Given the description of an element on the screen output the (x, y) to click on. 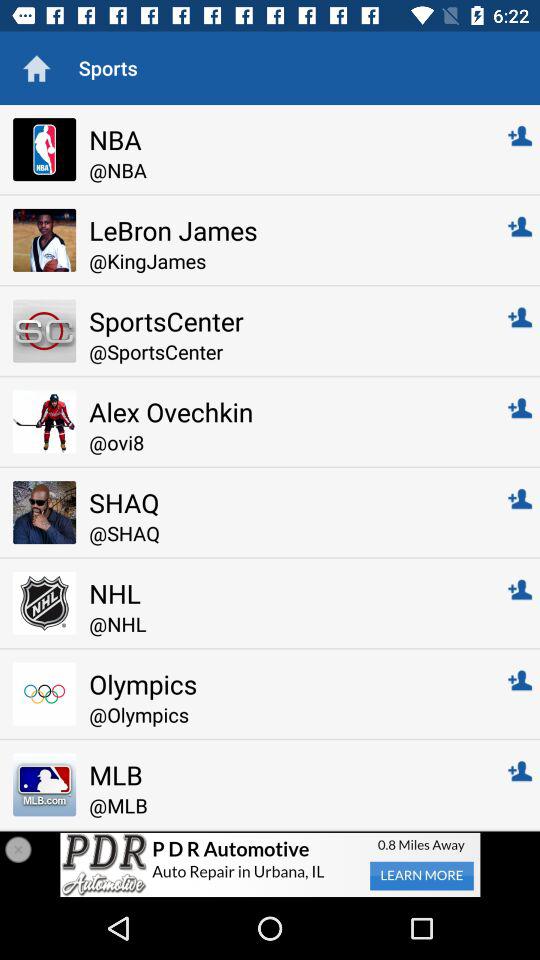
go home (36, 68)
